Given the description of an element on the screen output the (x, y) to click on. 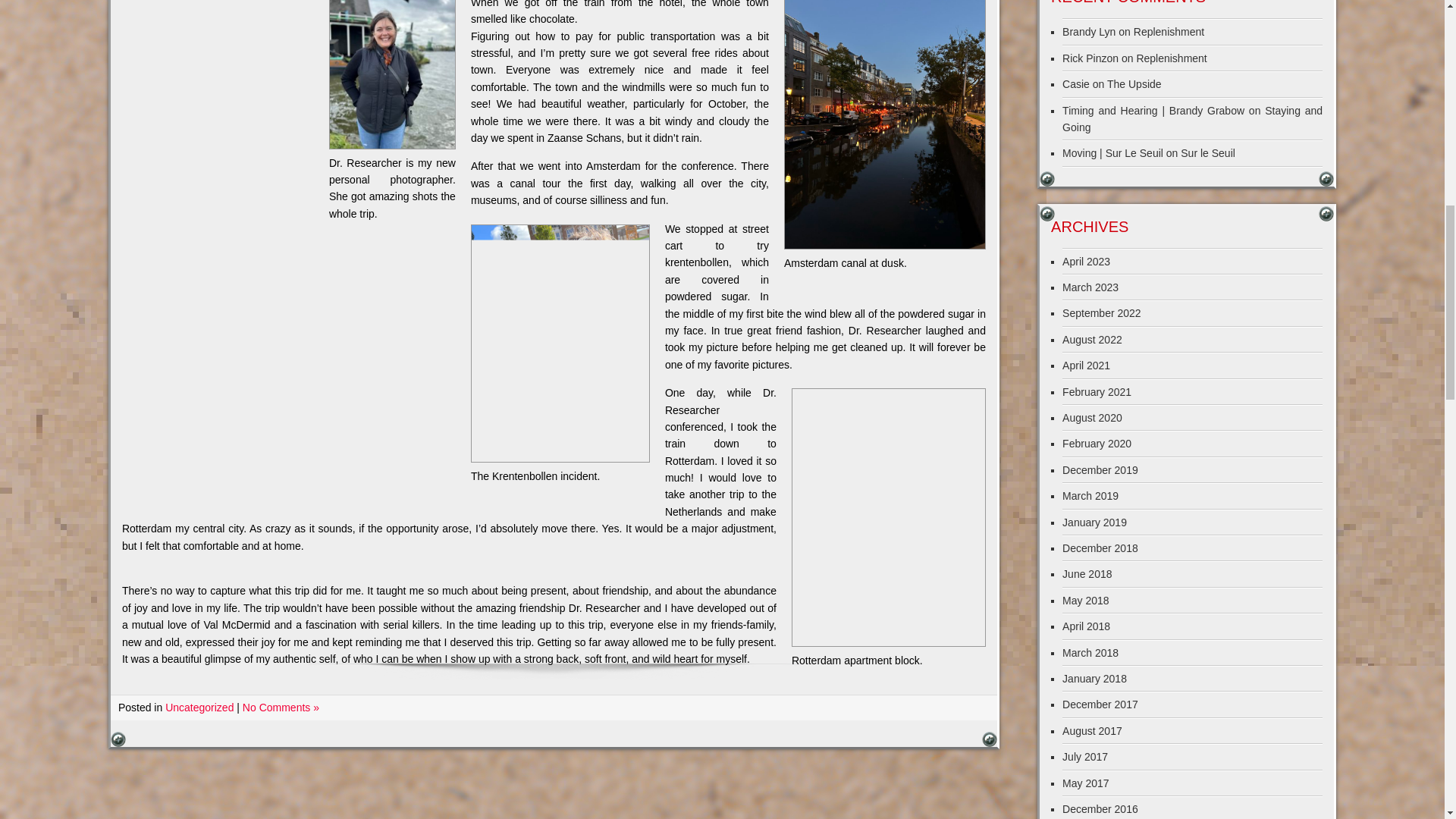
Replenishment (1171, 58)
Brandy Lyn (1088, 31)
Sur le Seuil (1207, 152)
Staying and Going (1192, 118)
Uncategorized (198, 707)
Replenishment (1169, 31)
The Upside (1133, 83)
